Given the description of an element on the screen output the (x, y) to click on. 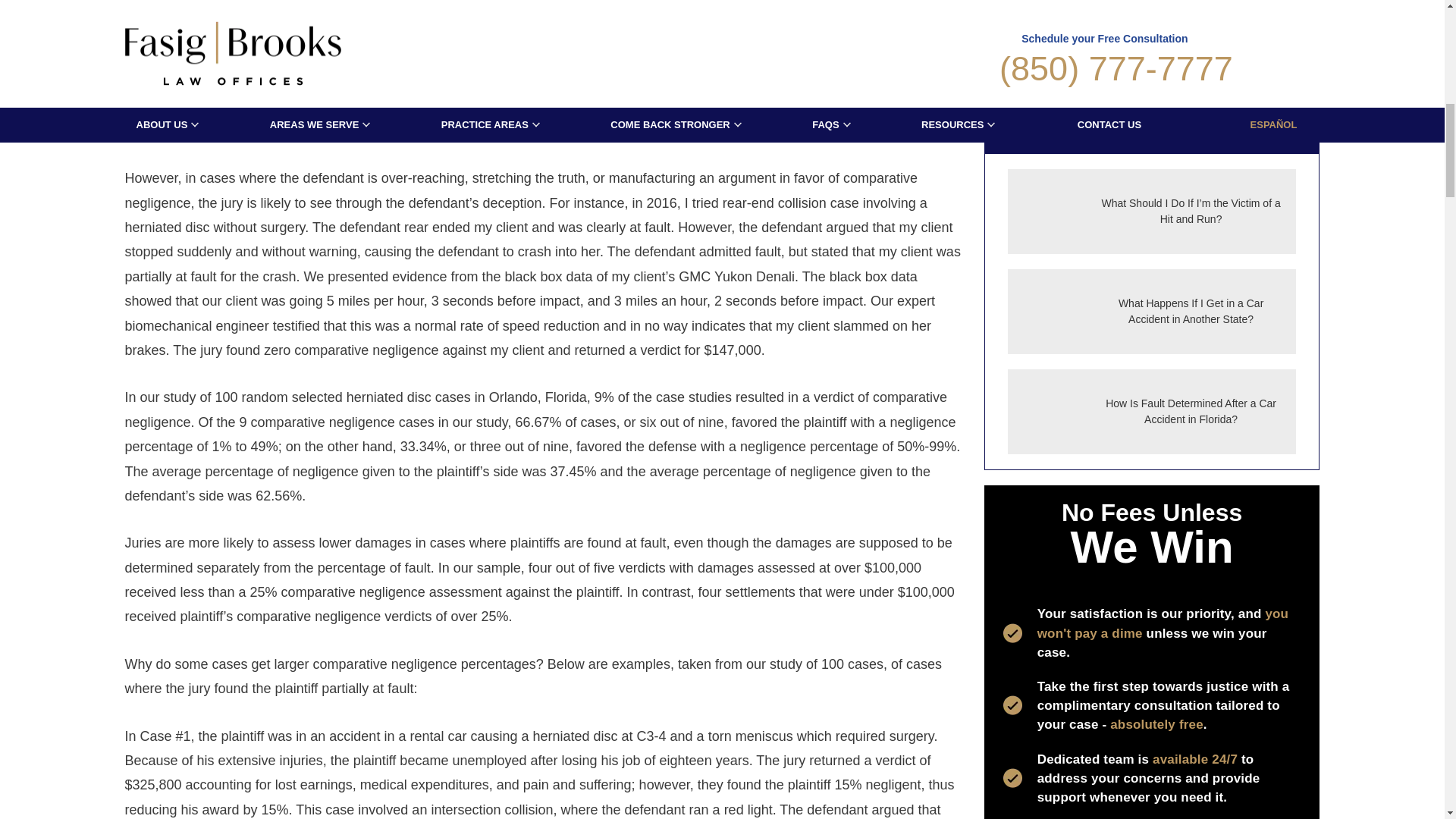
What Happens If I Get in a Car Accident in Another State? (1046, 311)
SEND MESSAGE (1151, 53)
What Happens If I Get in a Car Accident in Another State? (1152, 311)
